Given the description of an element on the screen output the (x, y) to click on. 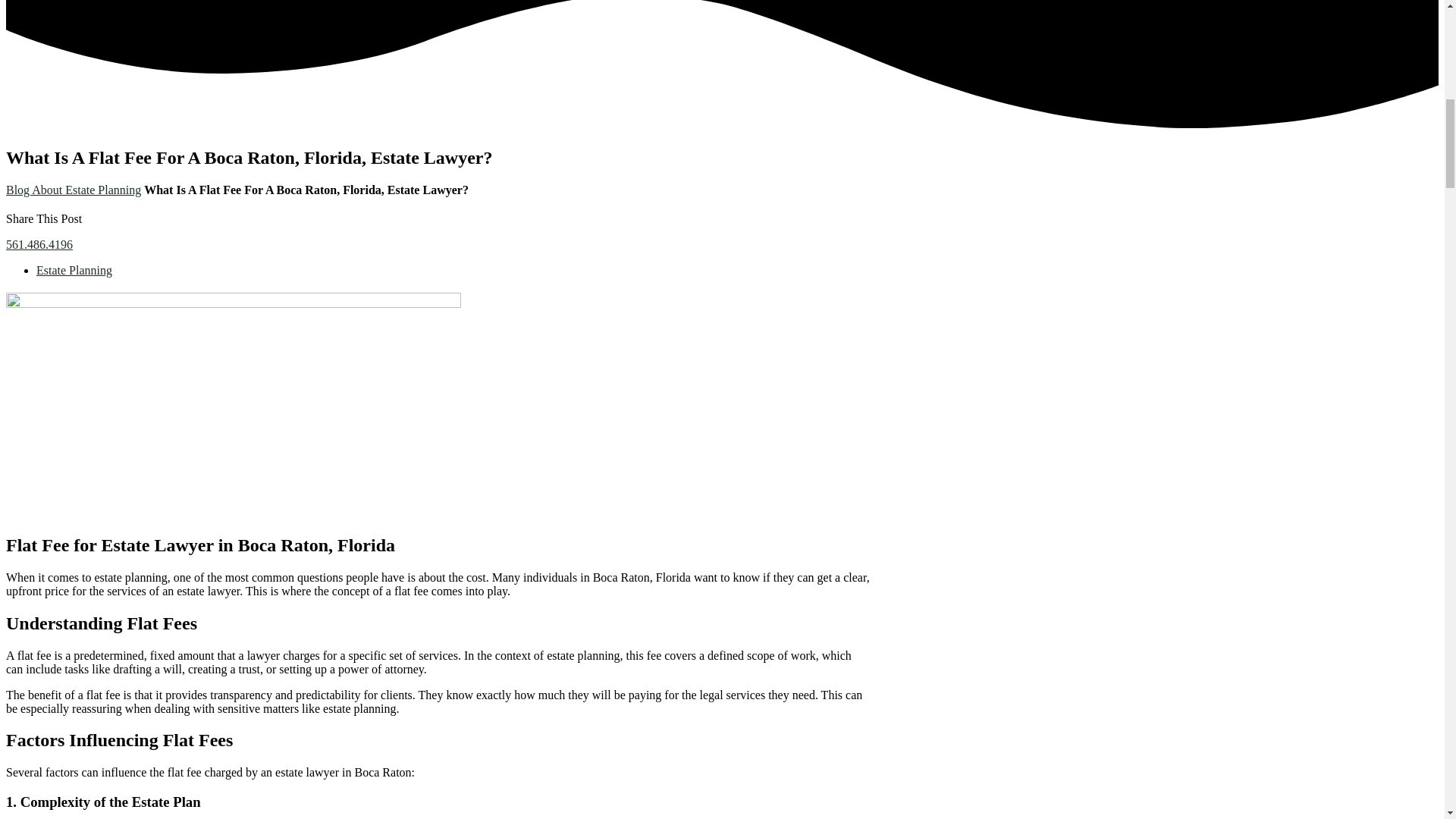
Estate Planning (74, 269)
561.486.4196 (38, 244)
Blog About Estate Planning (73, 189)
